Given the description of an element on the screen output the (x, y) to click on. 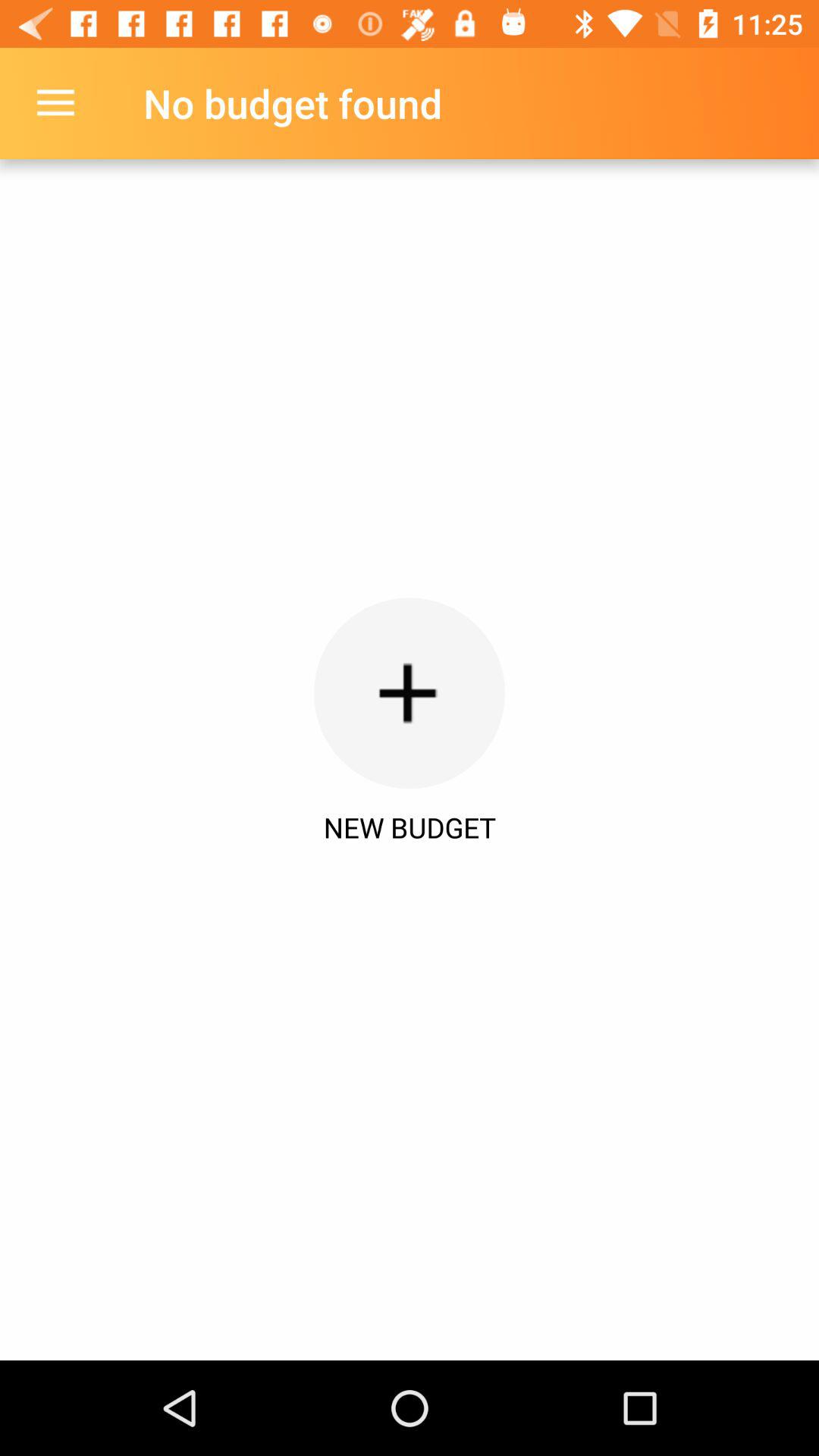
add new budget (409, 692)
